Given the description of an element on the screen output the (x, y) to click on. 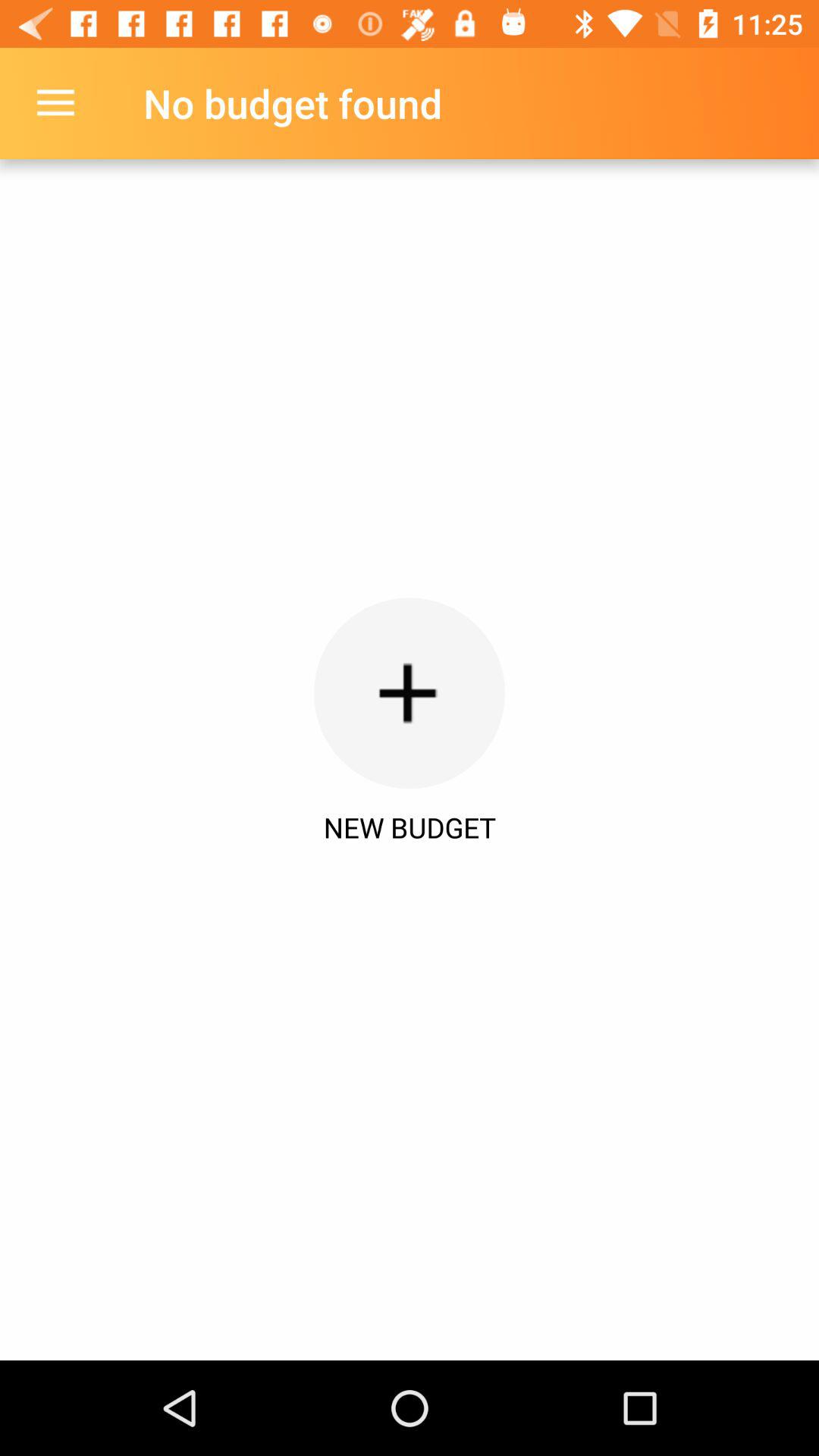
add new budget (409, 692)
